Given the description of an element on the screen output the (x, y) to click on. 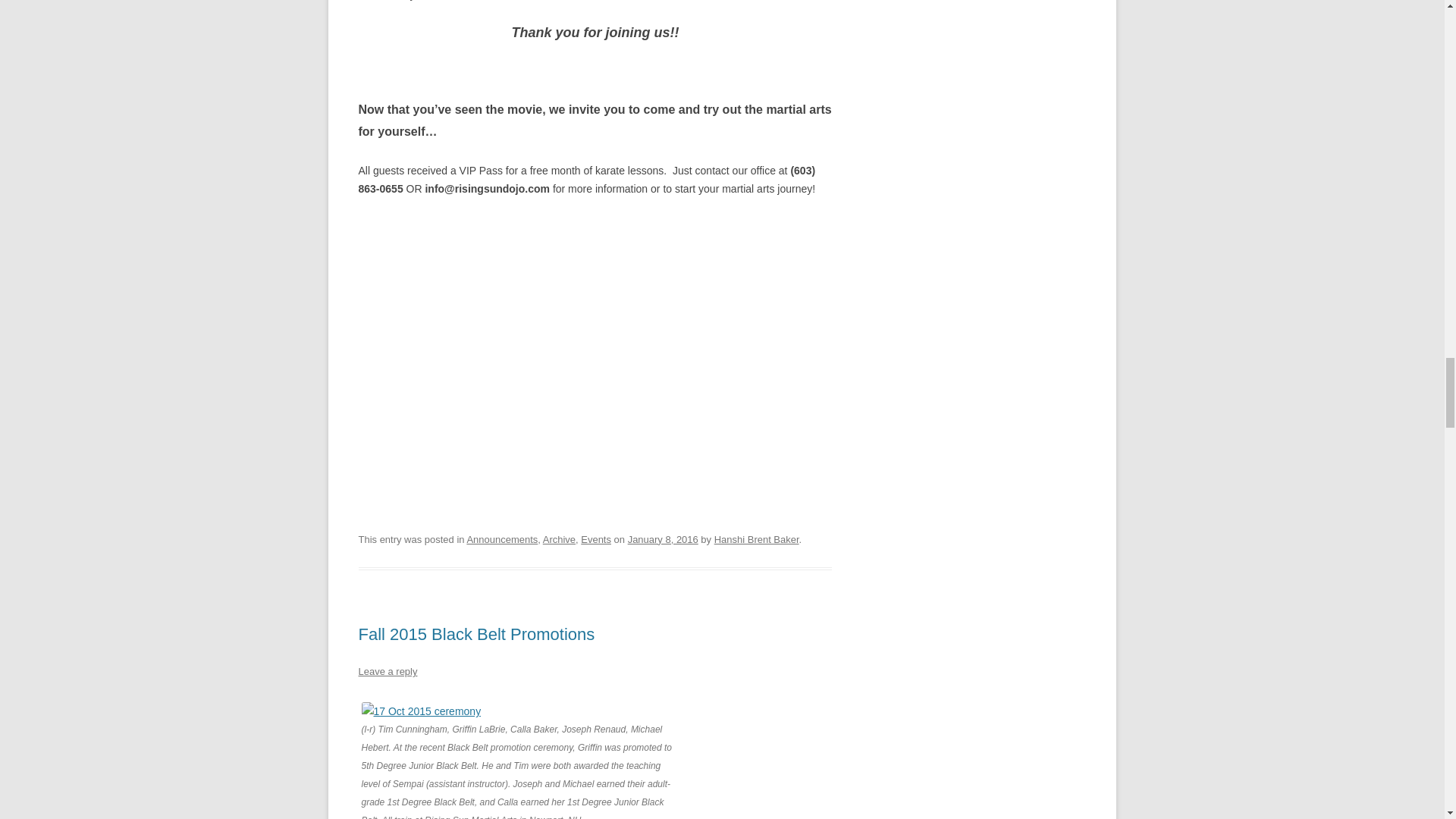
9:45 pm (662, 539)
View all posts by Hanshi Brent Baker (756, 539)
